Given the description of an element on the screen output the (x, y) to click on. 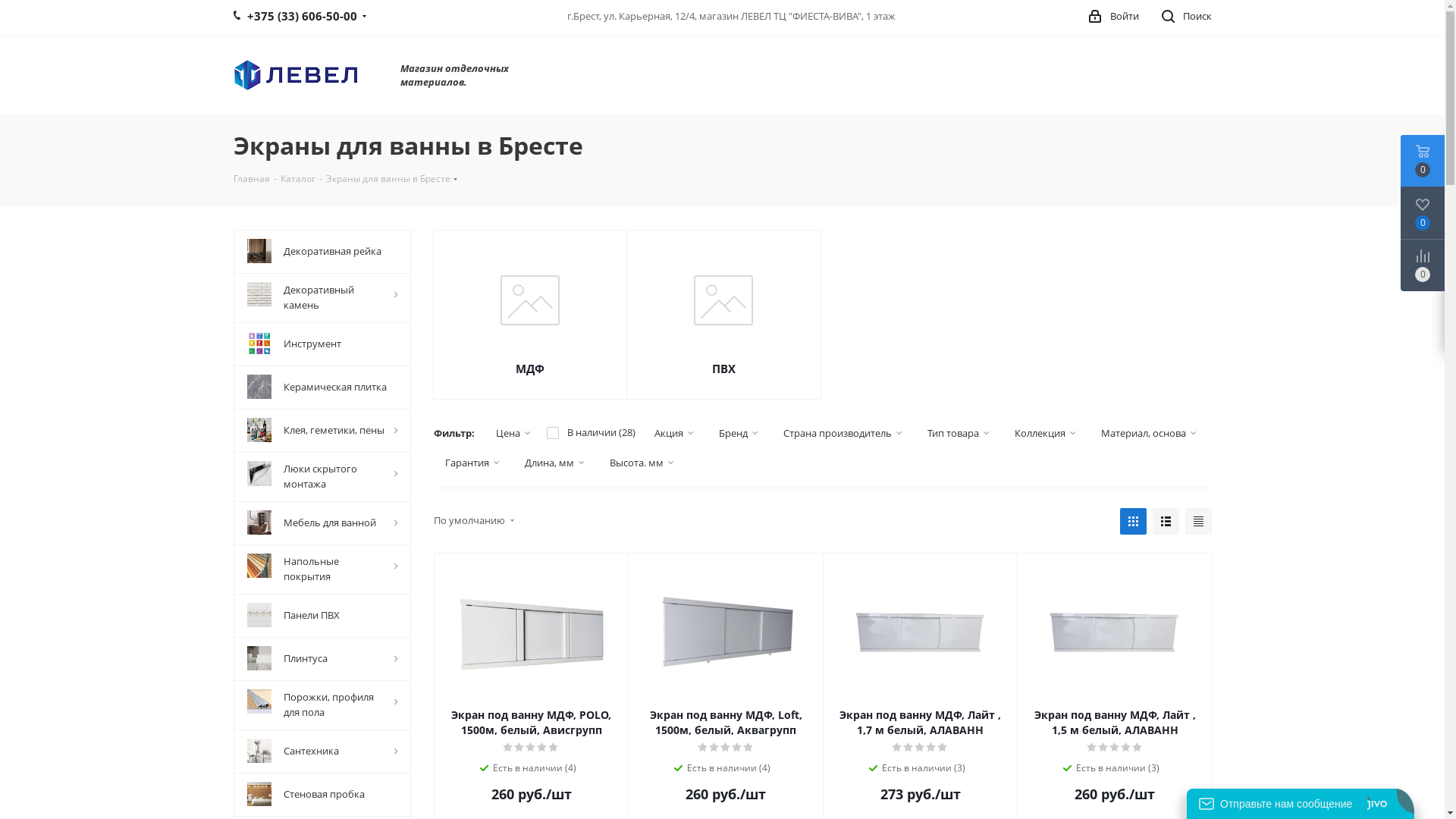
2 Element type: hover (1103, 747)
1 Element type: hover (508, 747)
4 Element type: hover (542, 747)
5 Element type: hover (1137, 747)
3 Element type: hover (1114, 747)
1 Element type: hover (897, 747)
Y Element type: text (4, 4)
2 Element type: hover (908, 747)
3 Element type: hover (919, 747)
5 Element type: hover (553, 747)
5 Element type: hover (942, 747)
4 Element type: hover (737, 747)
2 Element type: hover (714, 747)
3 Element type: hover (530, 747)
4 Element type: hover (1126, 747)
4 Element type: hover (931, 747)
1 Element type: hover (1092, 747)
2 Element type: hover (519, 747)
5 Element type: hover (748, 747)
1 Element type: hover (703, 747)
3 Element type: hover (725, 747)
